Given the description of an element on the screen output the (x, y) to click on. 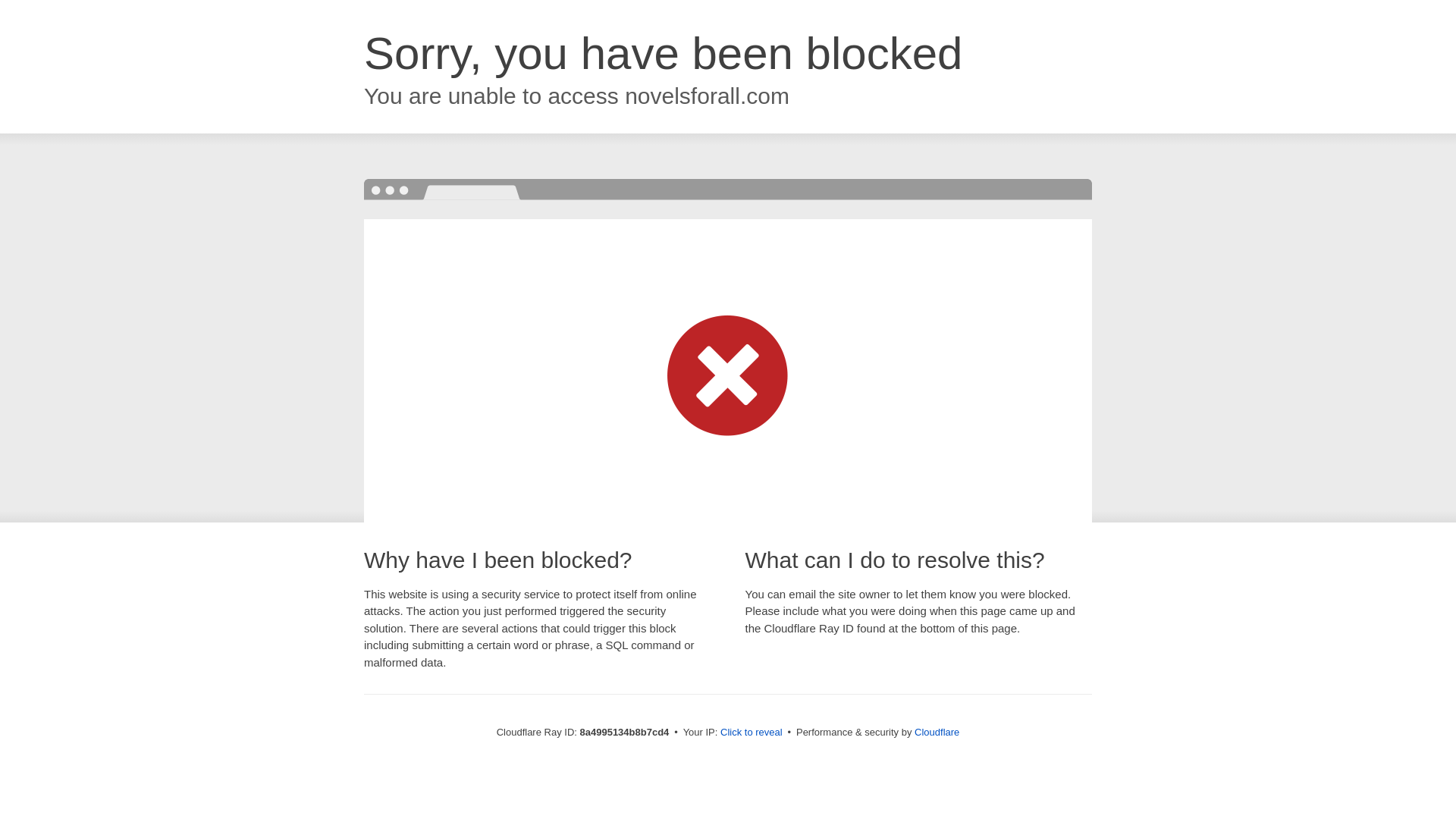
Click to reveal (751, 732)
Cloudflare (936, 731)
